Given the description of an element on the screen output the (x, y) to click on. 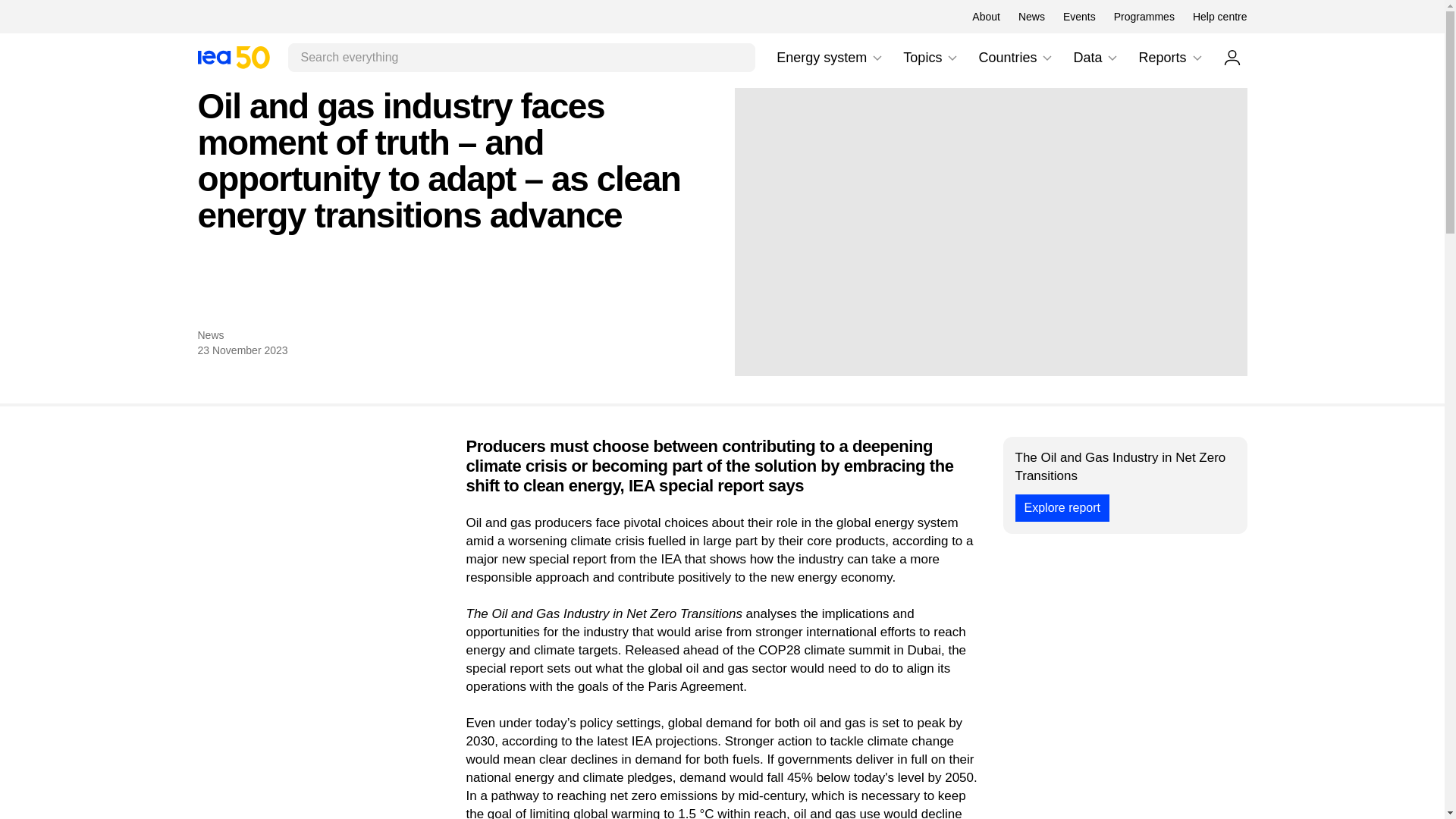
IEA (931, 57)
User Profile (232, 56)
Events (1231, 57)
Chevron down (1079, 16)
About (1046, 57)
News (830, 57)
IEA (986, 16)
Chevron down (1031, 16)
Chevron down (232, 56)
Chevron down (1196, 57)
Chevron down (877, 57)
Programmes (1112, 57)
Help centre (951, 57)
